Given the description of an element on the screen output the (x, y) to click on. 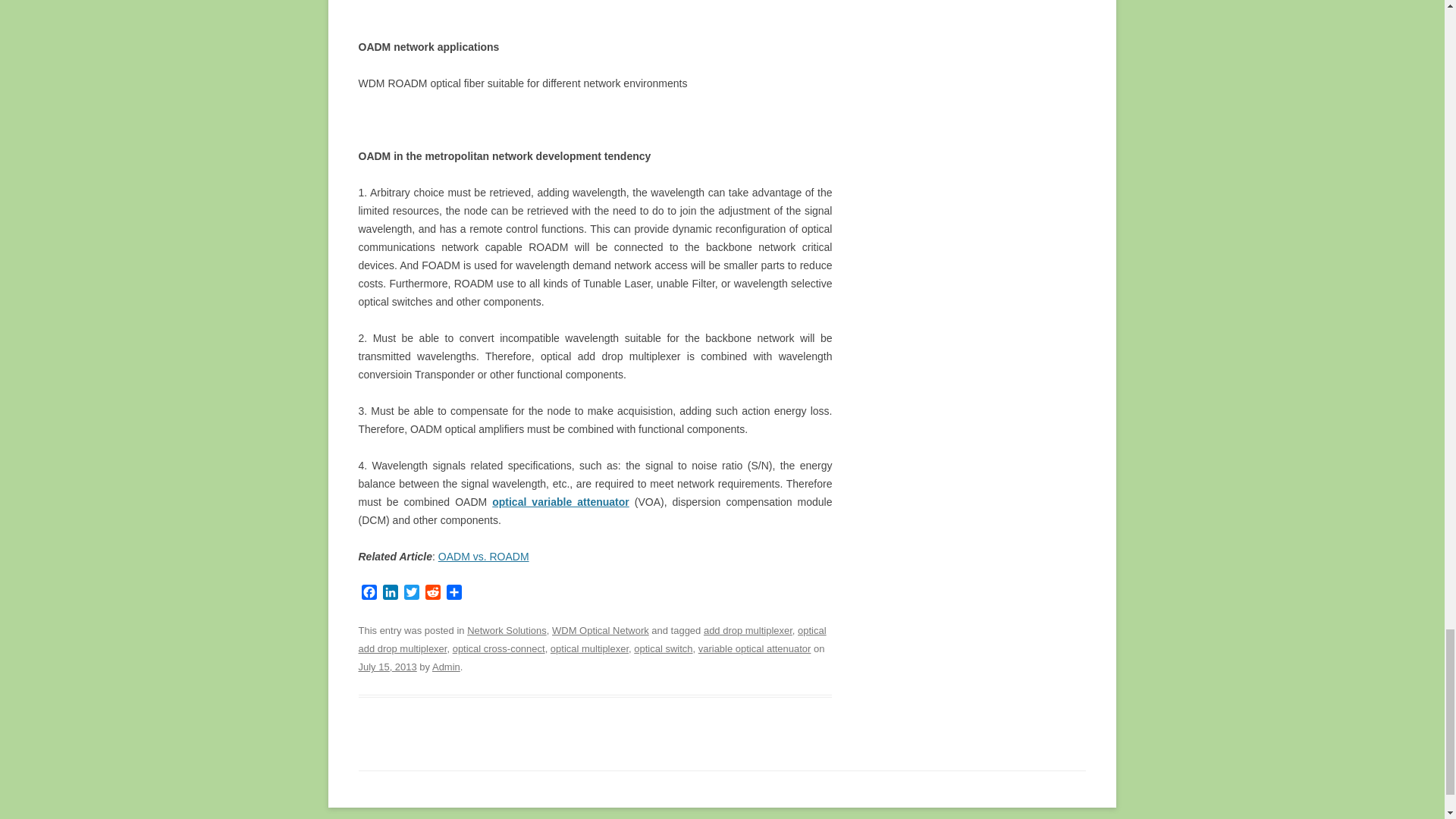
Facebook (368, 593)
optical variable attenuator (560, 501)
OADM vs. ROADM (483, 556)
